Given the description of an element on the screen output the (x, y) to click on. 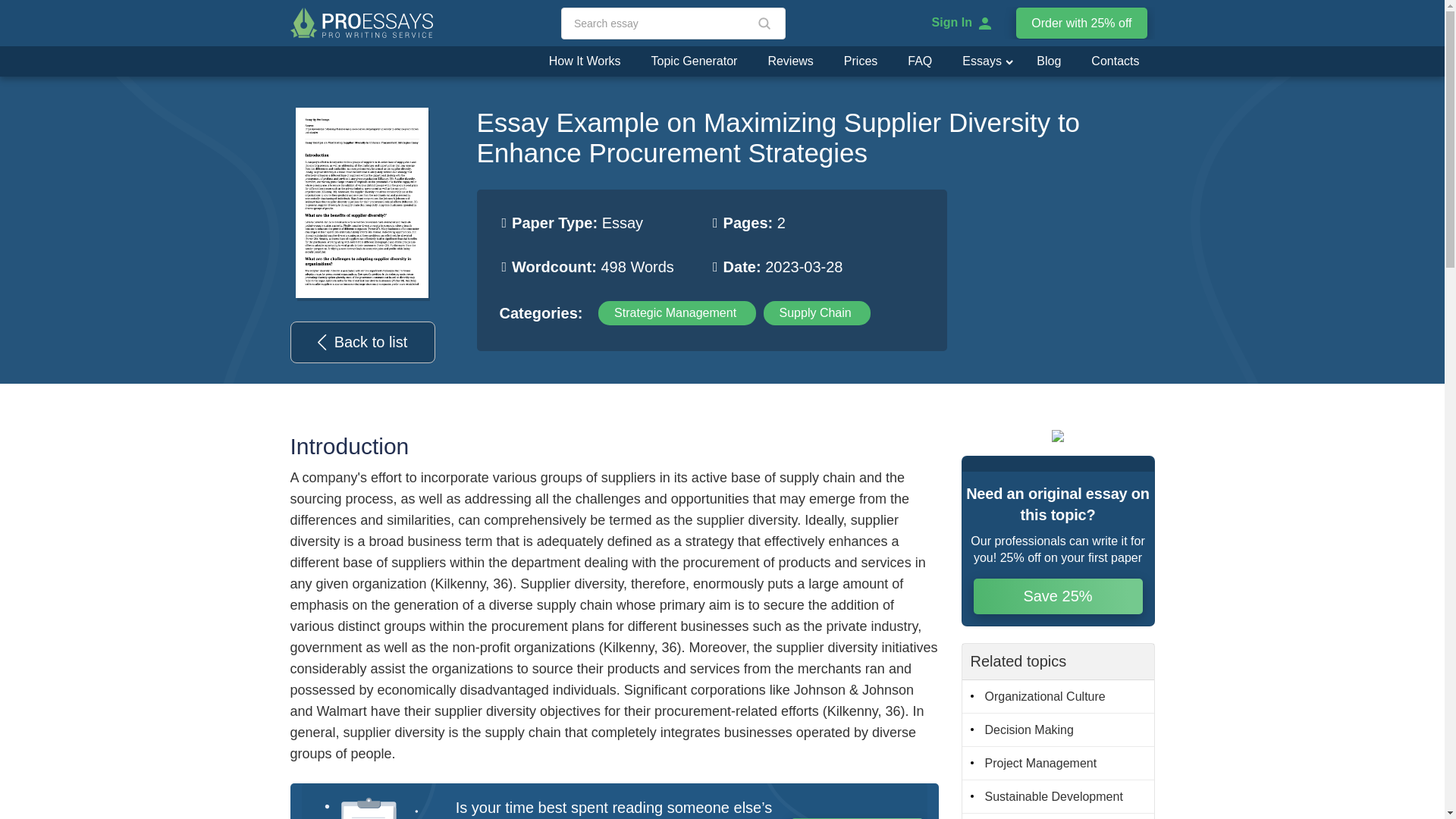
FAQ (919, 60)
Reviews (790, 60)
Contacts (1114, 60)
Topic Generator (694, 60)
How It Works (585, 60)
Blog (1048, 60)
Essays (975, 60)
Prices (860, 60)
